Given the description of an element on the screen output the (x, y) to click on. 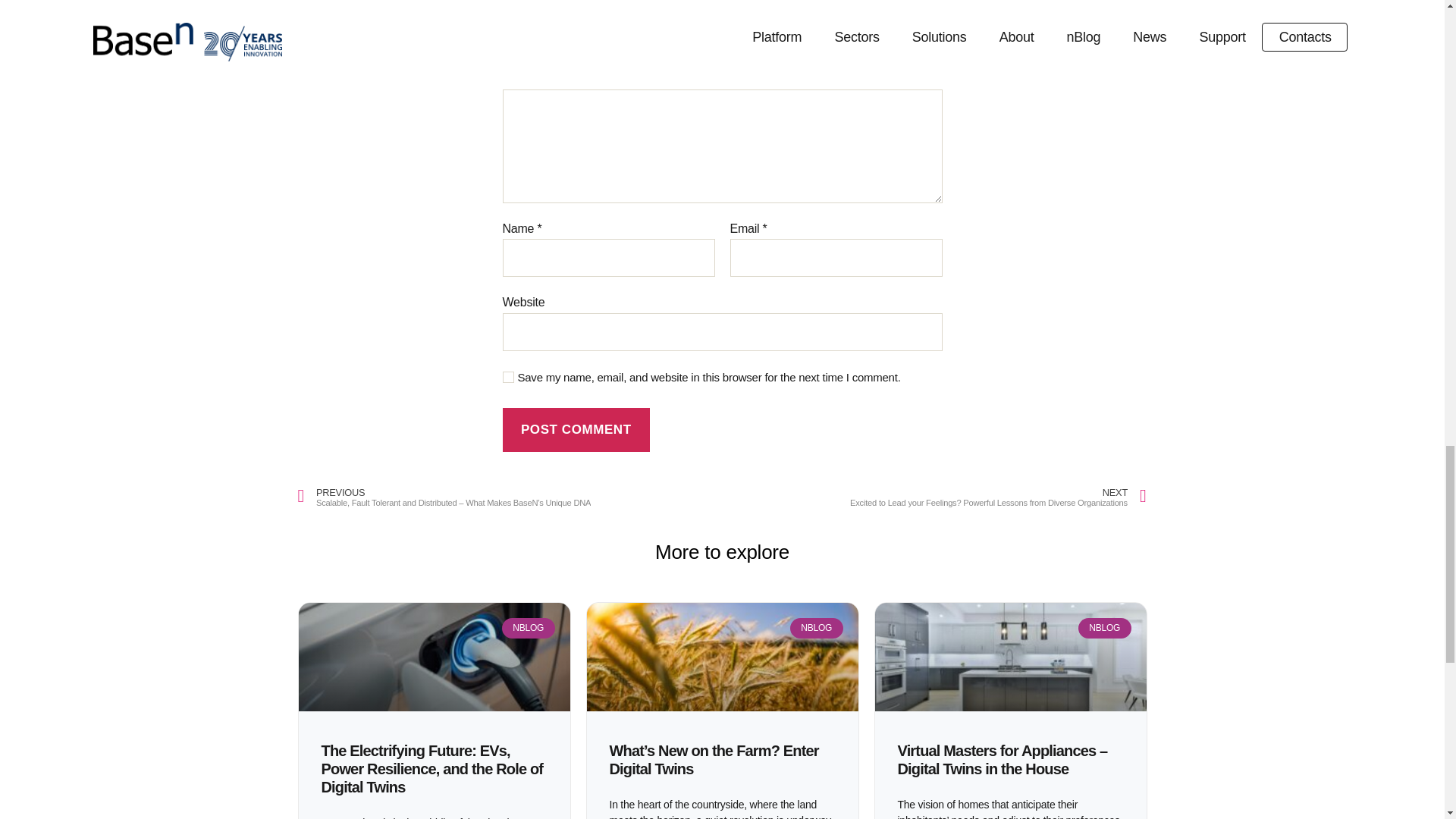
Post Comment (575, 429)
yes (507, 377)
